Given the description of an element on the screen output the (x, y) to click on. 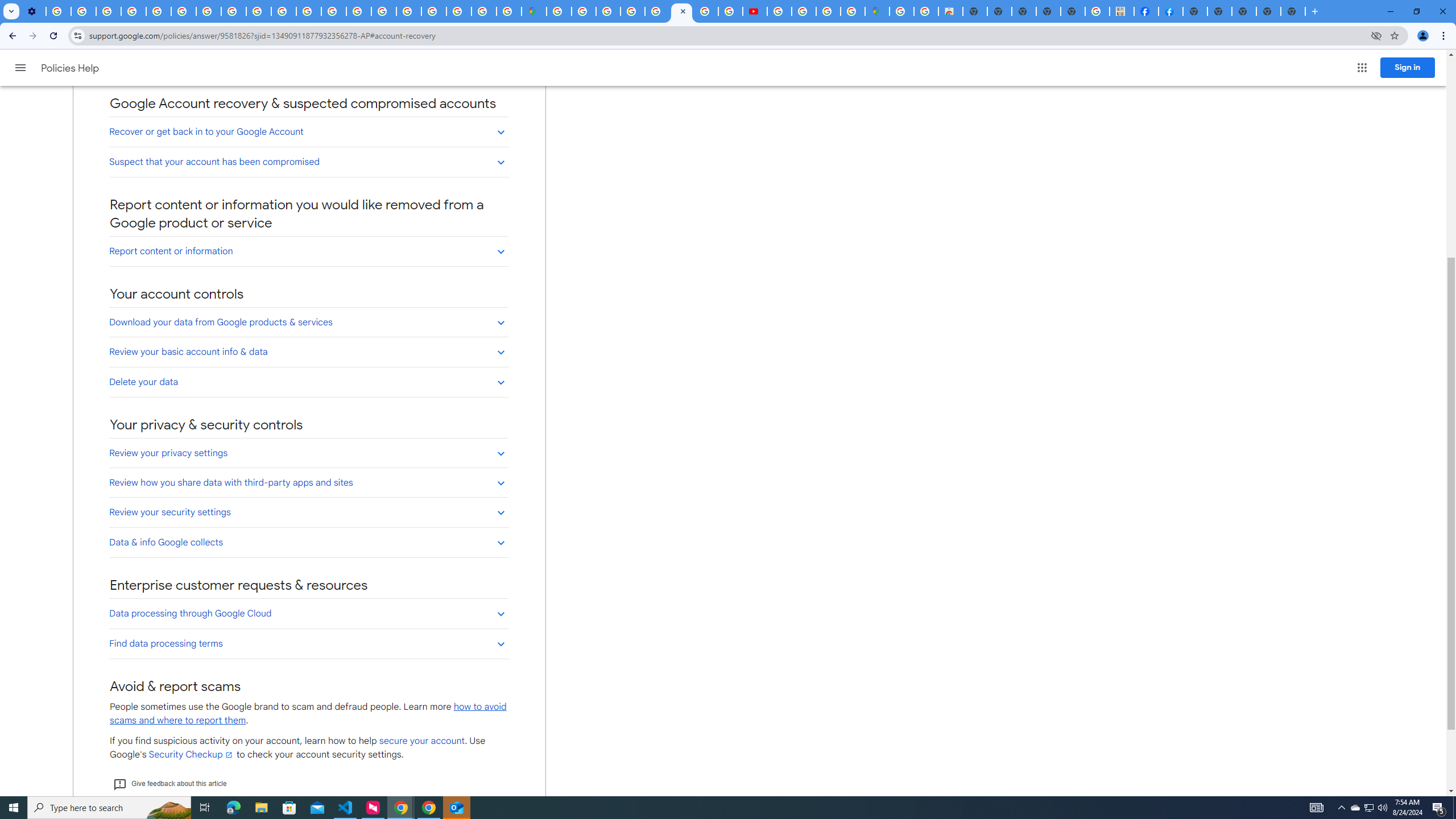
Review your security settings (308, 512)
Sign in - Google Accounts (433, 11)
Chrome Web Store - Shopping (950, 11)
Google Maps (876, 11)
Privacy Help Center - Policies Help (332, 11)
Privacy Checkup (283, 11)
Review your basic account info & data (308, 351)
Delete your data (308, 381)
Sign in - Google Accounts (558, 11)
Sign in - Google Accounts (583, 11)
